Given the description of an element on the screen output the (x, y) to click on. 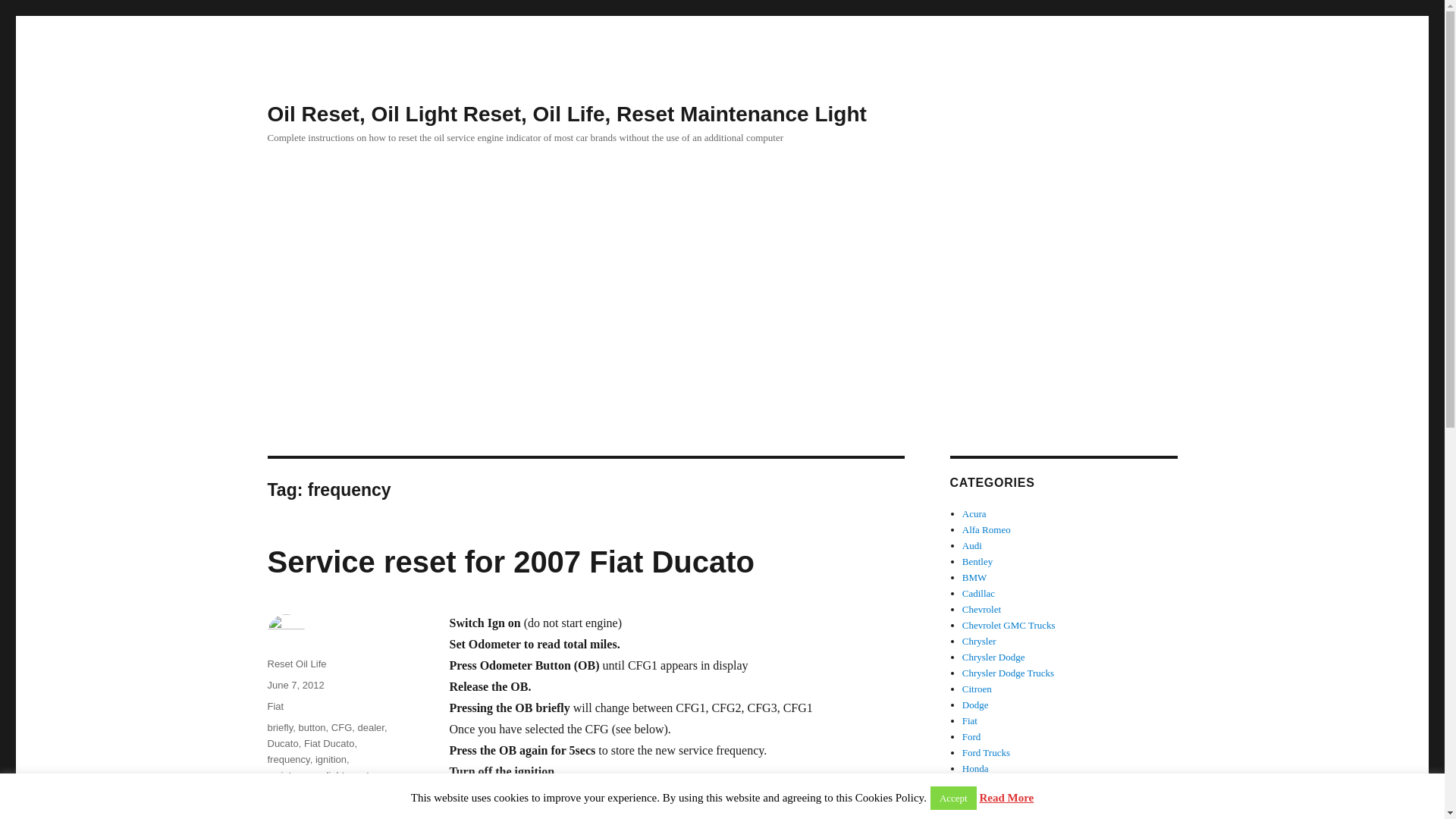
button (311, 727)
frequency (287, 758)
Press (326, 790)
Alfa Romeo (986, 529)
Bentley (977, 561)
Reset Oil Life (296, 663)
odometer (286, 790)
Service reset for 2007 Fiat Ducato (510, 561)
CFG (341, 727)
